Given the description of an element on the screen output the (x, y) to click on. 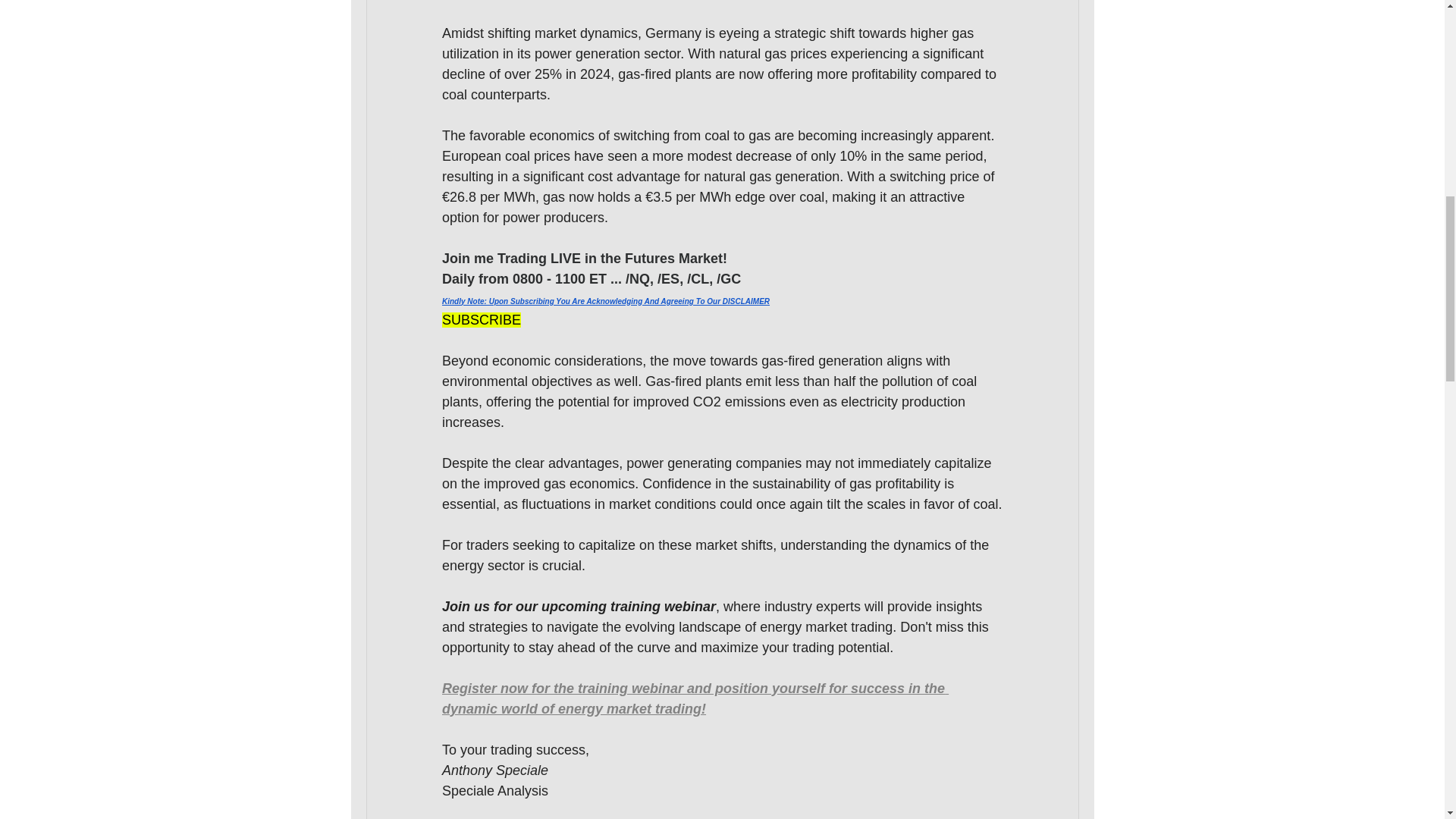
SUBSCRIBE (480, 319)
